Given the description of an element on the screen output the (x, y) to click on. 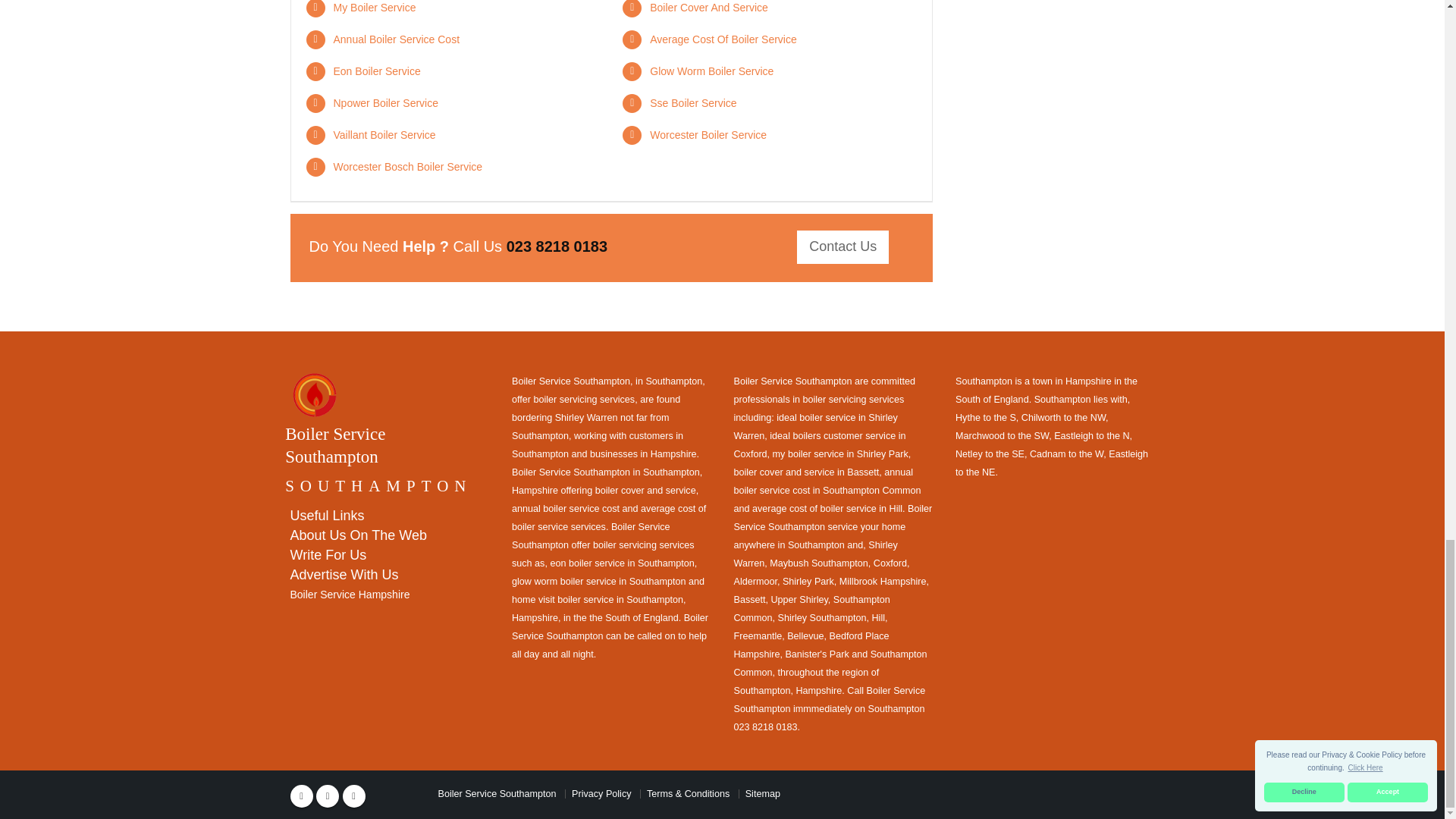
Facebook (301, 795)
Twitter (327, 795)
Linkedin (353, 795)
